Given the description of an element on the screen output the (x, y) to click on. 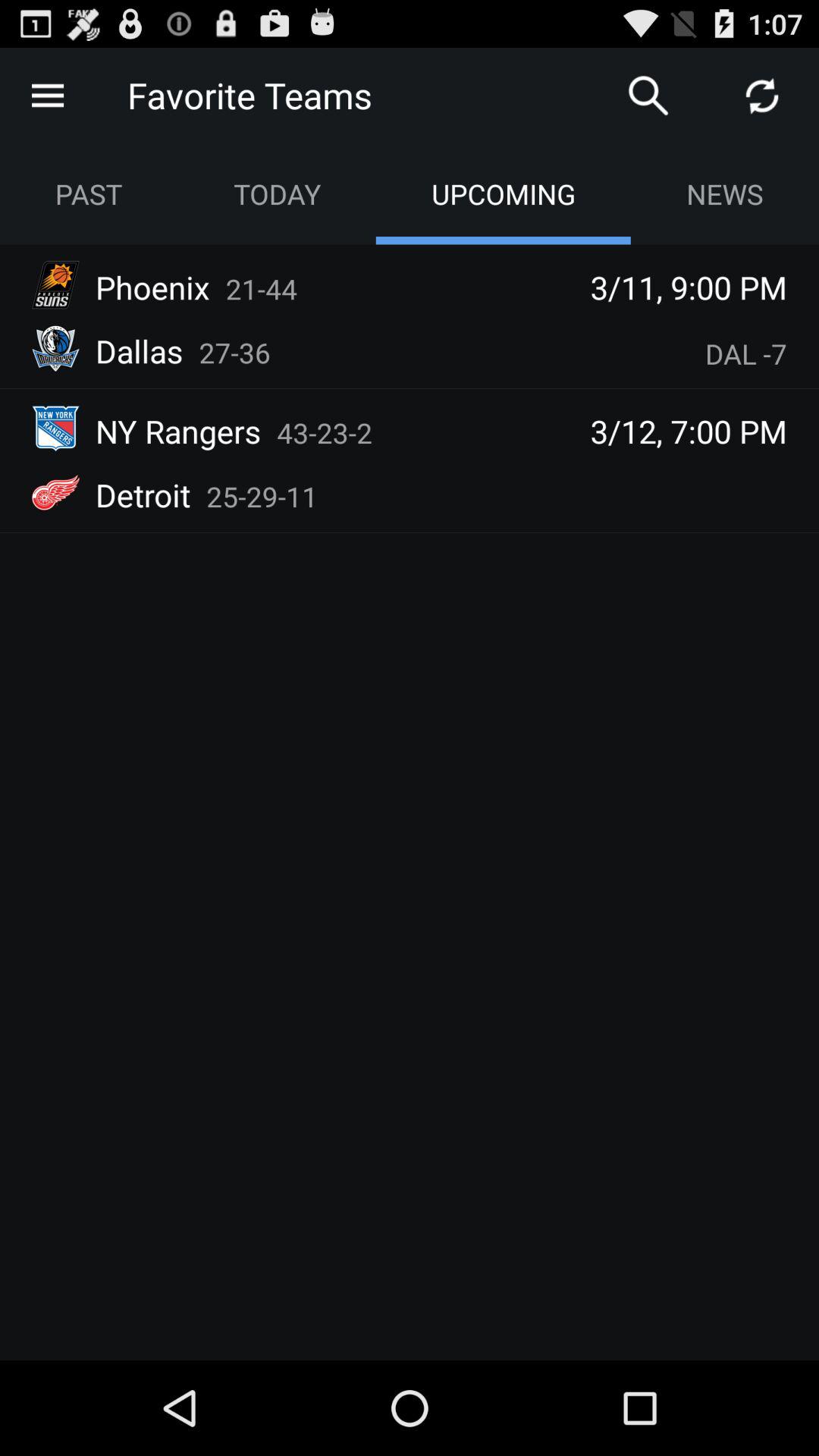
menu button (47, 95)
